Given the description of an element on the screen output the (x, y) to click on. 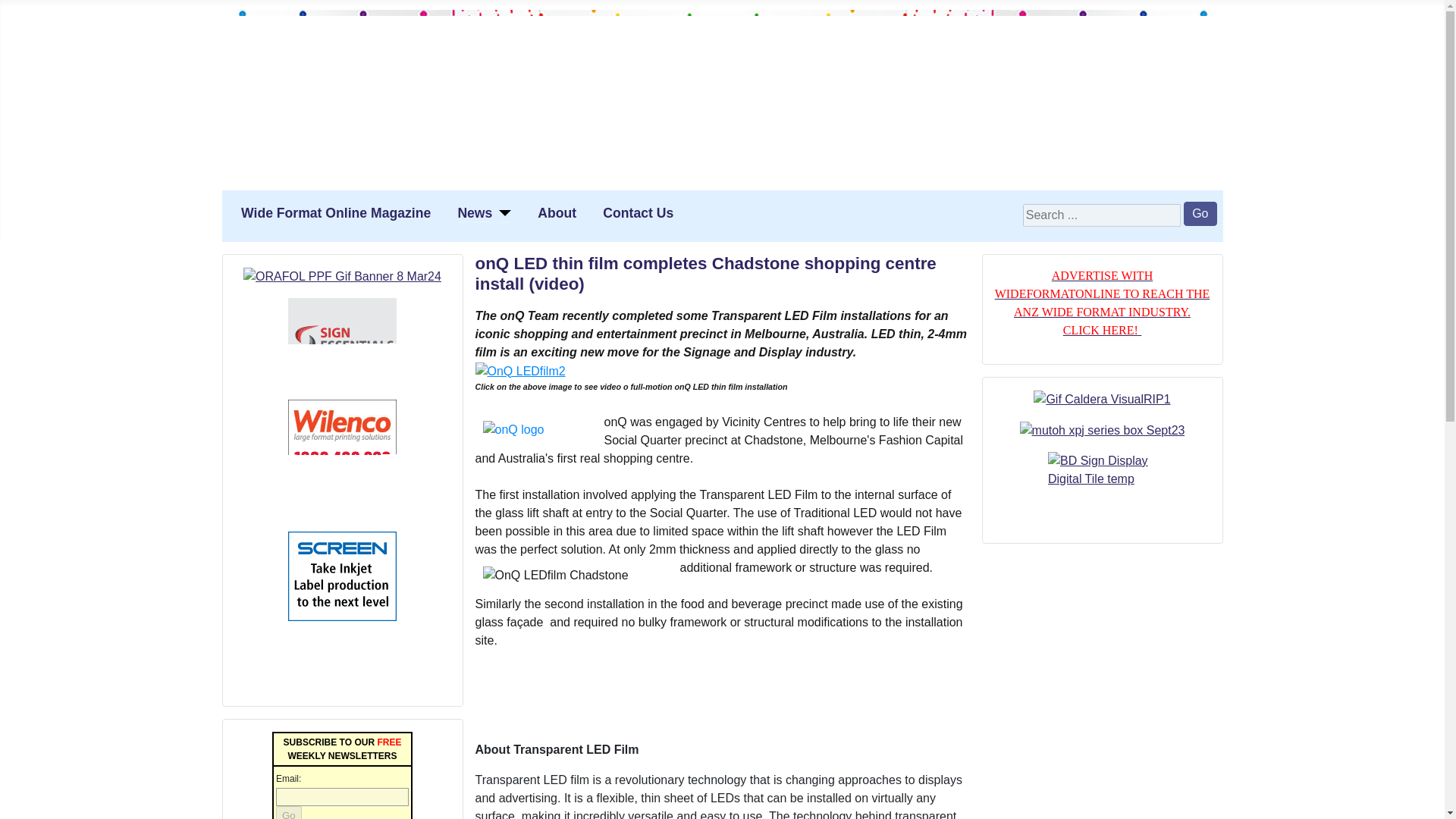
About (556, 212)
Go (288, 812)
Wide Format Online Magazine (335, 212)
News (474, 212)
Go (288, 812)
Contact Us (637, 212)
Go (1199, 213)
Advertising on wideformatonline.com (1101, 302)
